Given the description of an element on the screen output the (x, y) to click on. 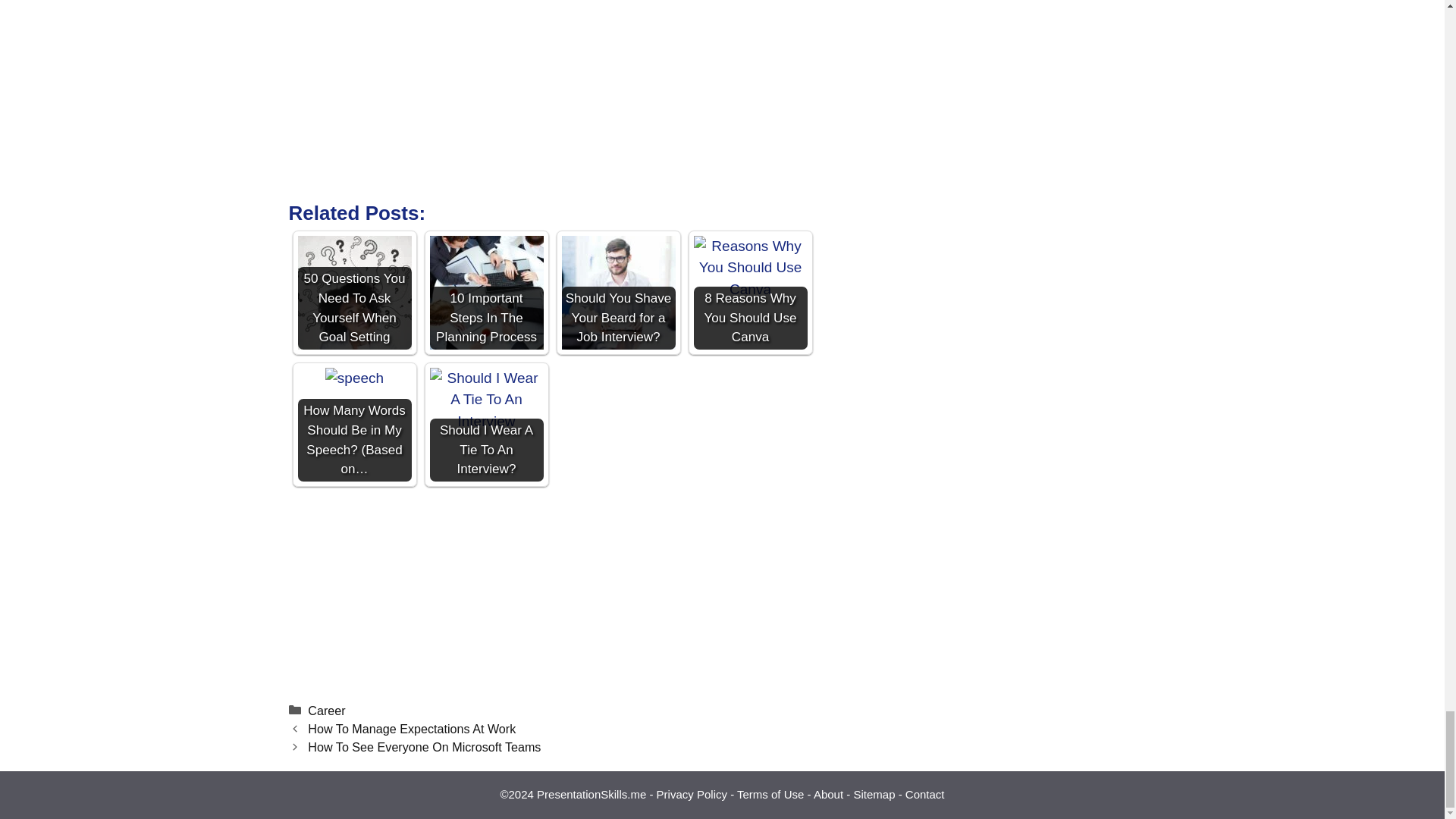
Career (326, 710)
8 Reasons Why You Should Use Canva (749, 292)
50 Questions You Need To Ask Yourself When Goal Setting (353, 292)
10 Important Steps In The Planning Process (486, 292)
How To See Everyone On Microsoft Teams (423, 746)
How To Manage Expectations At Work (411, 728)
50 Questions You Need To Ask Yourself When Goal Setting (353, 292)
Should I Wear A Tie To An Interview? (486, 400)
10 Important Steps In The Planning Process (486, 292)
Should I Wear A Tie To An Interview? (486, 424)
8 Reasons Why You Should Use Canva (749, 268)
Should You Shave Your Beard for a Job Interview? (617, 292)
Should You Shave Your Beard for a Job Interview? (617, 292)
